Given the description of an element on the screen output the (x, y) to click on. 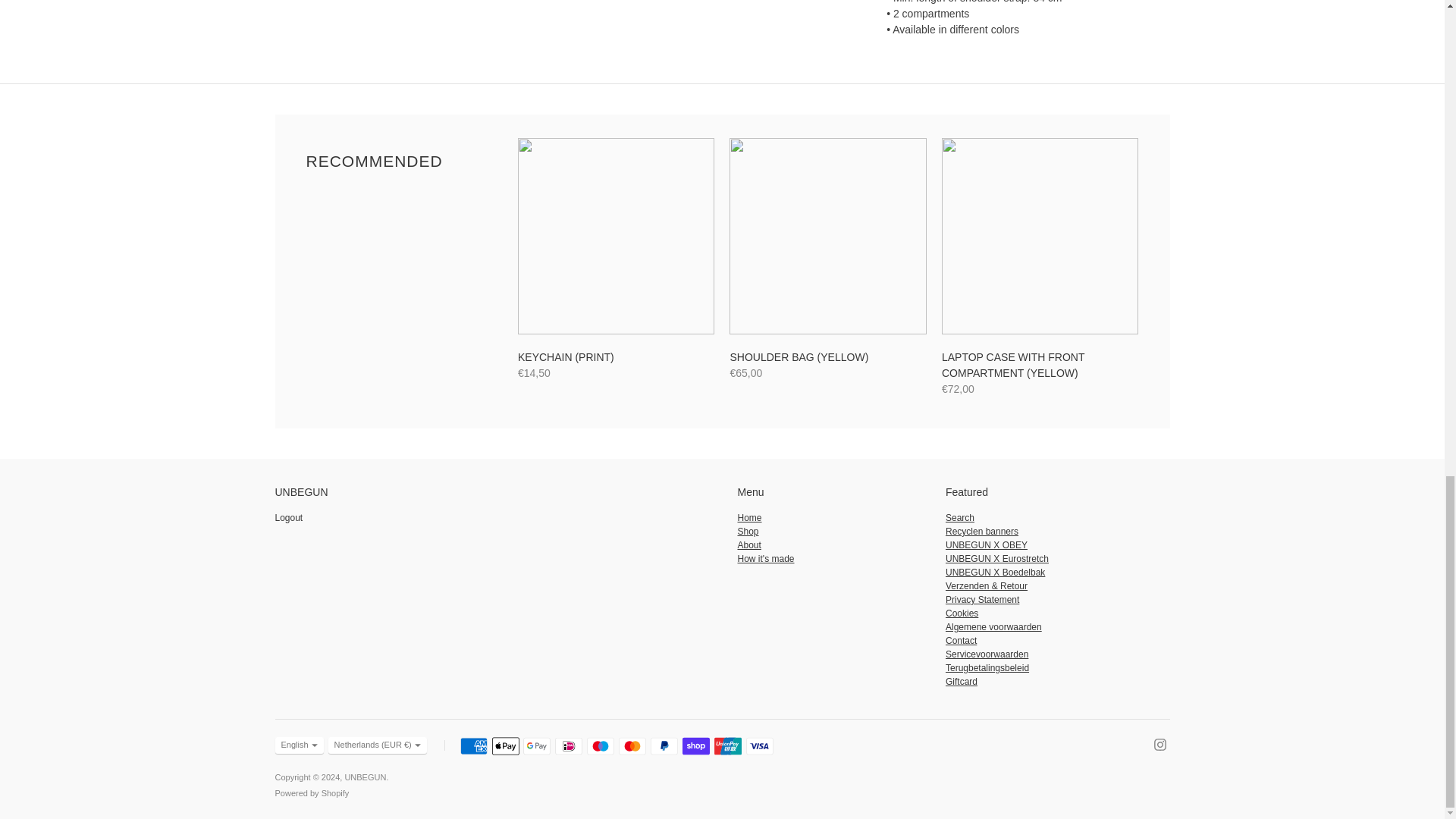
Union Pay (727, 746)
PayPal (664, 746)
Apple Pay (505, 746)
Visa (759, 746)
Shop Pay (696, 746)
Maestro (600, 746)
Google Pay (536, 746)
American Express (473, 746)
iDEAL (568, 746)
Mastercard (632, 746)
